Given the description of an element on the screen output the (x, y) to click on. 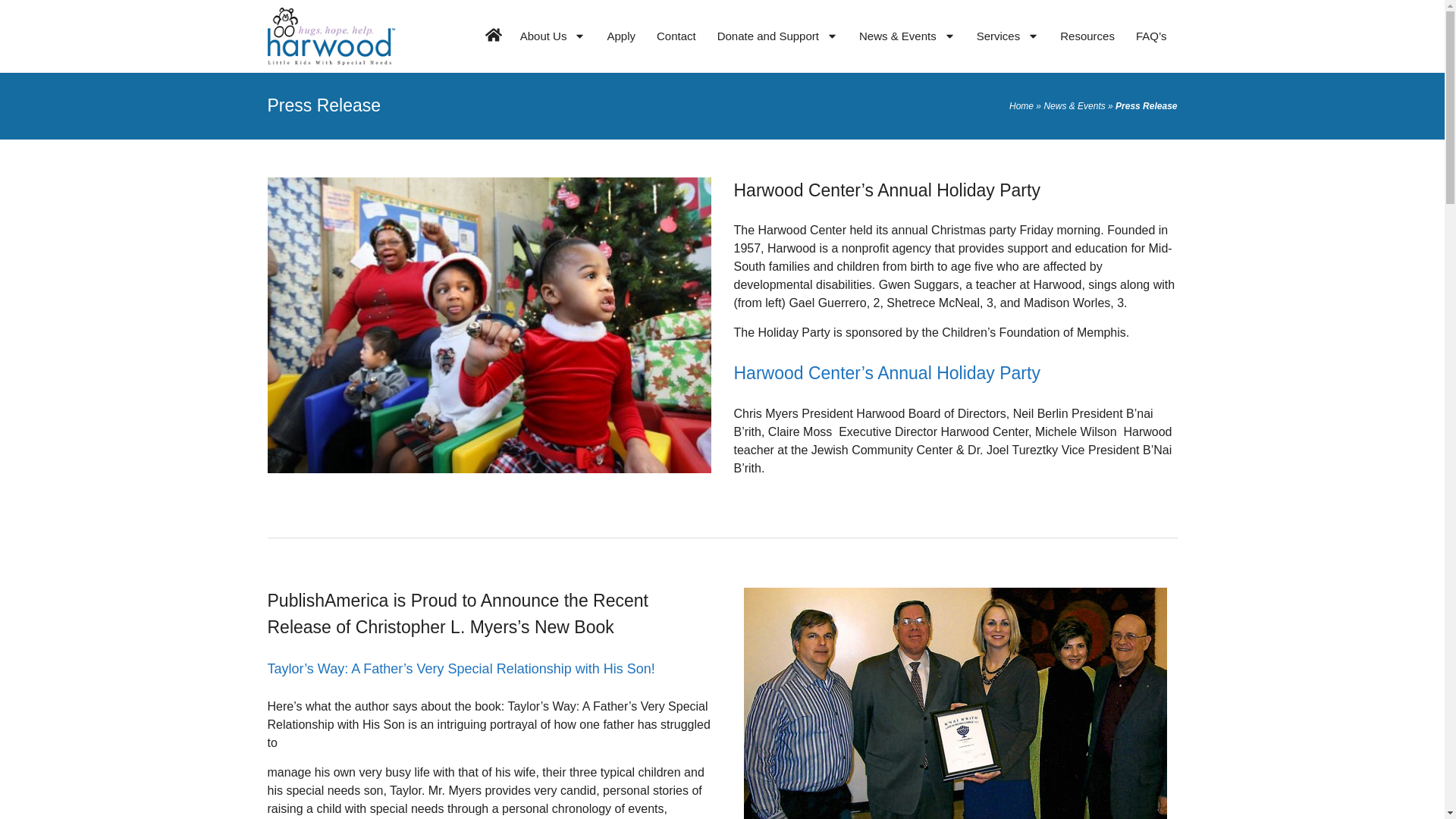
Donate and Support (777, 36)
Apply (620, 36)
Resources (1087, 36)
Contact (676, 36)
Services (1007, 36)
About Us (552, 36)
